Given the description of an element on the screen output the (x, y) to click on. 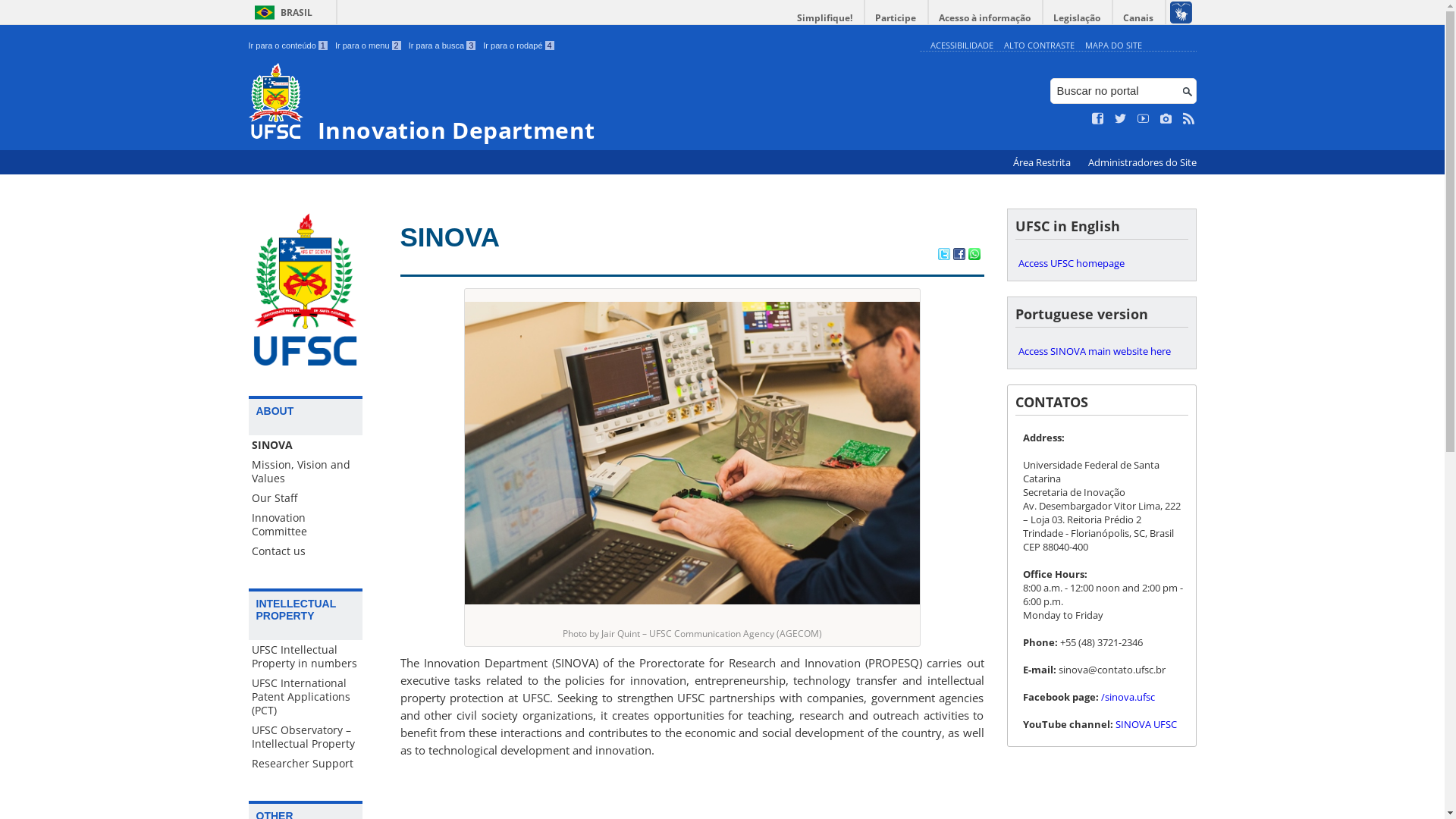
ACESSIBILIDADE Element type: text (960, 44)
Compartilhar no Twitter Element type: hover (943, 255)
UFSC Intellectual Property in numbers Element type: text (305, 656)
UFSC International Patent Applications (PCT) Element type: text (305, 696)
Curta no Facebook Element type: hover (1098, 118)
Administradores do Site Element type: text (1141, 162)
Innovation Department Element type: text (580, 102)
Contact us Element type: text (305, 551)
Veja no Instagram Element type: hover (1166, 118)
Simplifique! Element type: text (825, 18)
Our Staff Element type: text (305, 498)
Access SINOVA main website here Element type: text (1100, 350)
Ir para a busca 3 Element type: text (442, 45)
SINOVA Element type: text (305, 445)
SINOVA Element type: text (450, 236)
Ir para o menu 2 Element type: text (368, 45)
ALTO CONTRASTE Element type: text (1039, 44)
MAPA DO SITE Element type: text (1112, 44)
Access UFSC homepage Element type: text (1100, 263)
SINOVA UFSC Element type: text (1145, 724)
/sinova.ufsc Element type: text (1127, 696)
Researcher Support Element type: text (305, 763)
Participe Element type: text (895, 18)
Compartilhar no WhatsApp Element type: hover (973, 255)
Mission, Vision and Values Element type: text (305, 471)
Innovation Committee Element type: text (305, 524)
Canais Element type: text (1138, 18)
BRASIL Element type: text (280, 12)
Siga no Twitter Element type: hover (1120, 118)
Compartilhar no Facebook Element type: hover (958, 255)
